Given the description of an element on the screen output the (x, y) to click on. 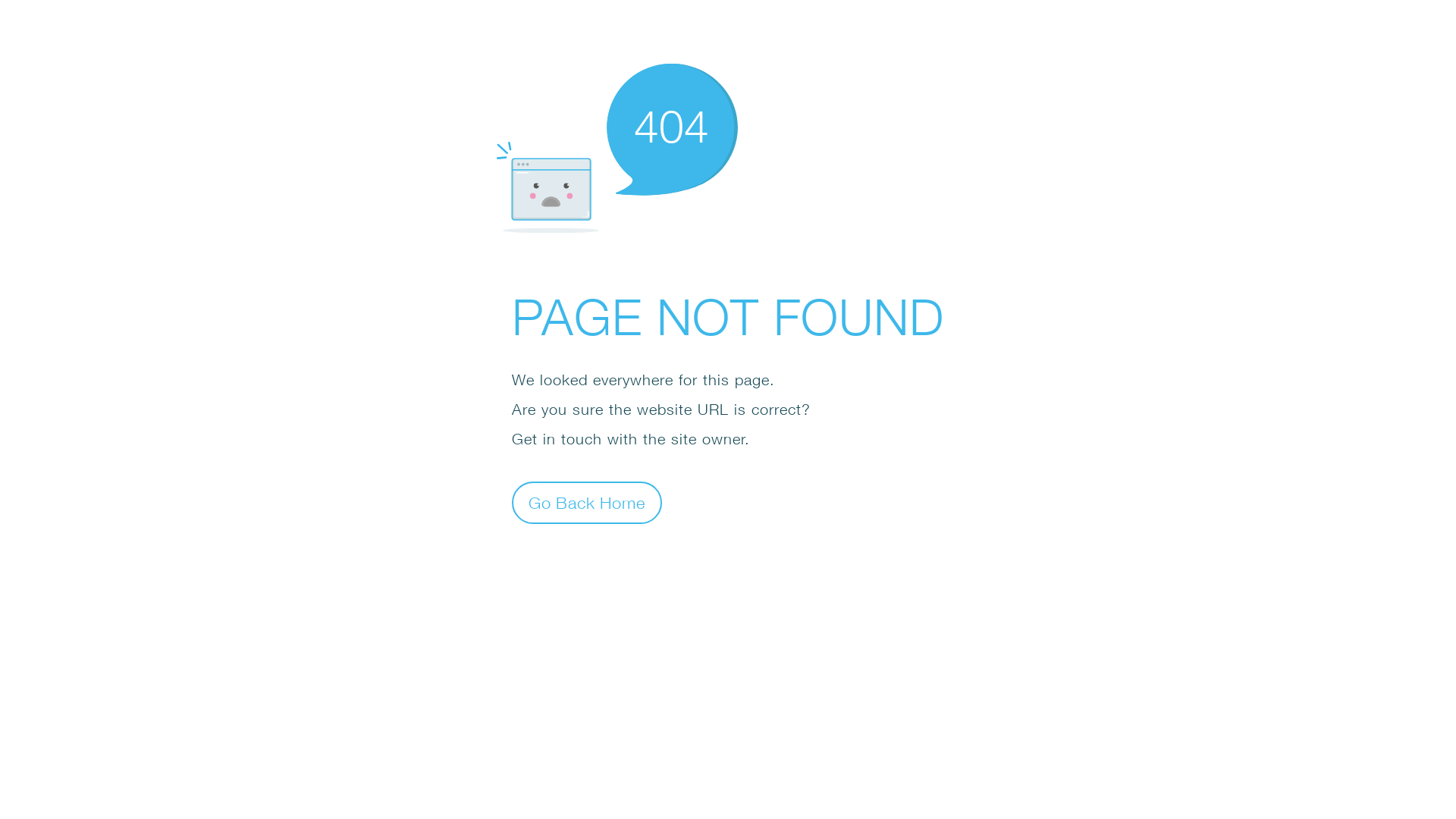
Go Back Home Element type: text (586, 502)
